Given the description of an element on the screen output the (x, y) to click on. 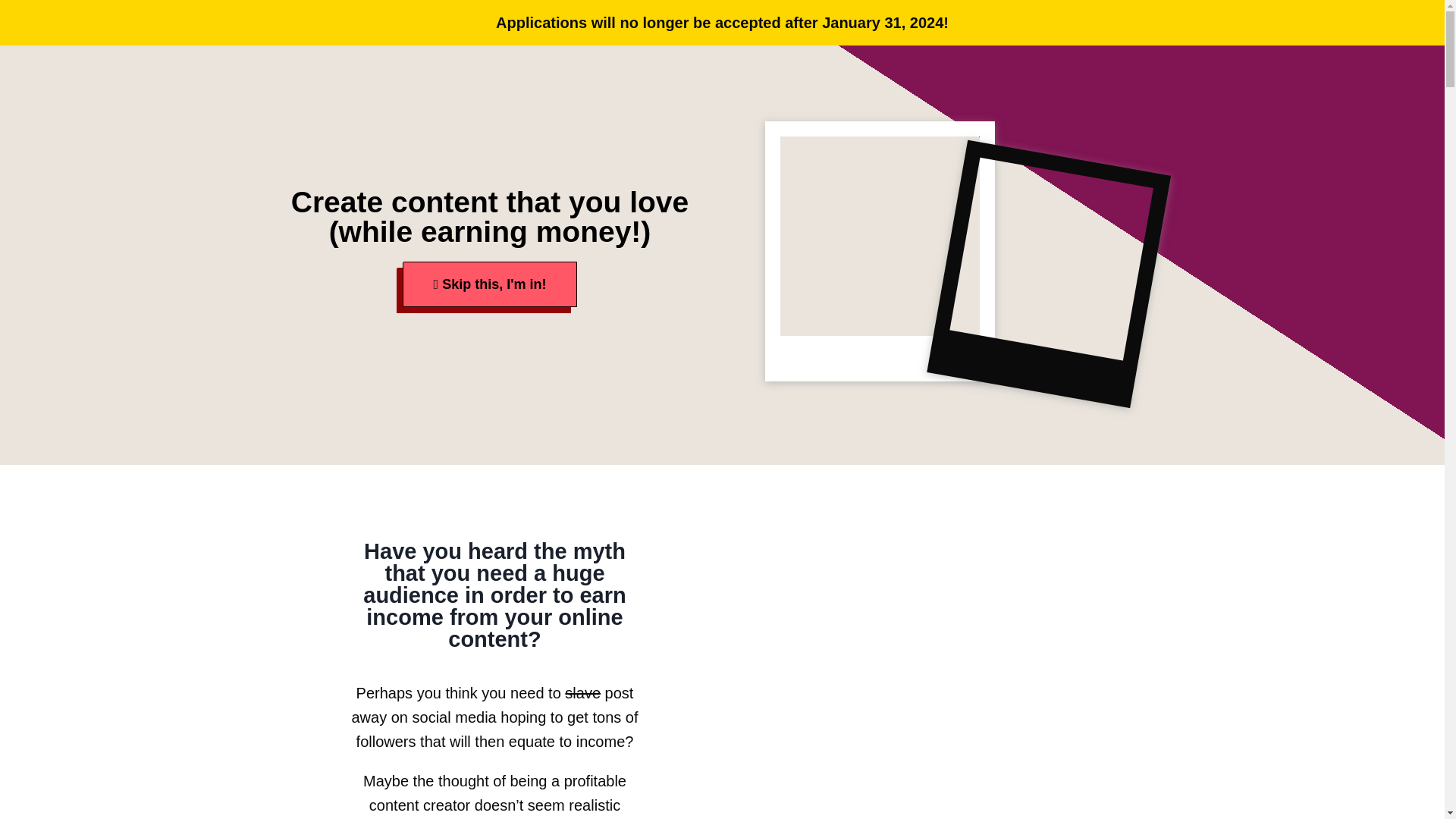
Skip this, I'm in! (490, 284)
